Given the description of an element on the screen output the (x, y) to click on. 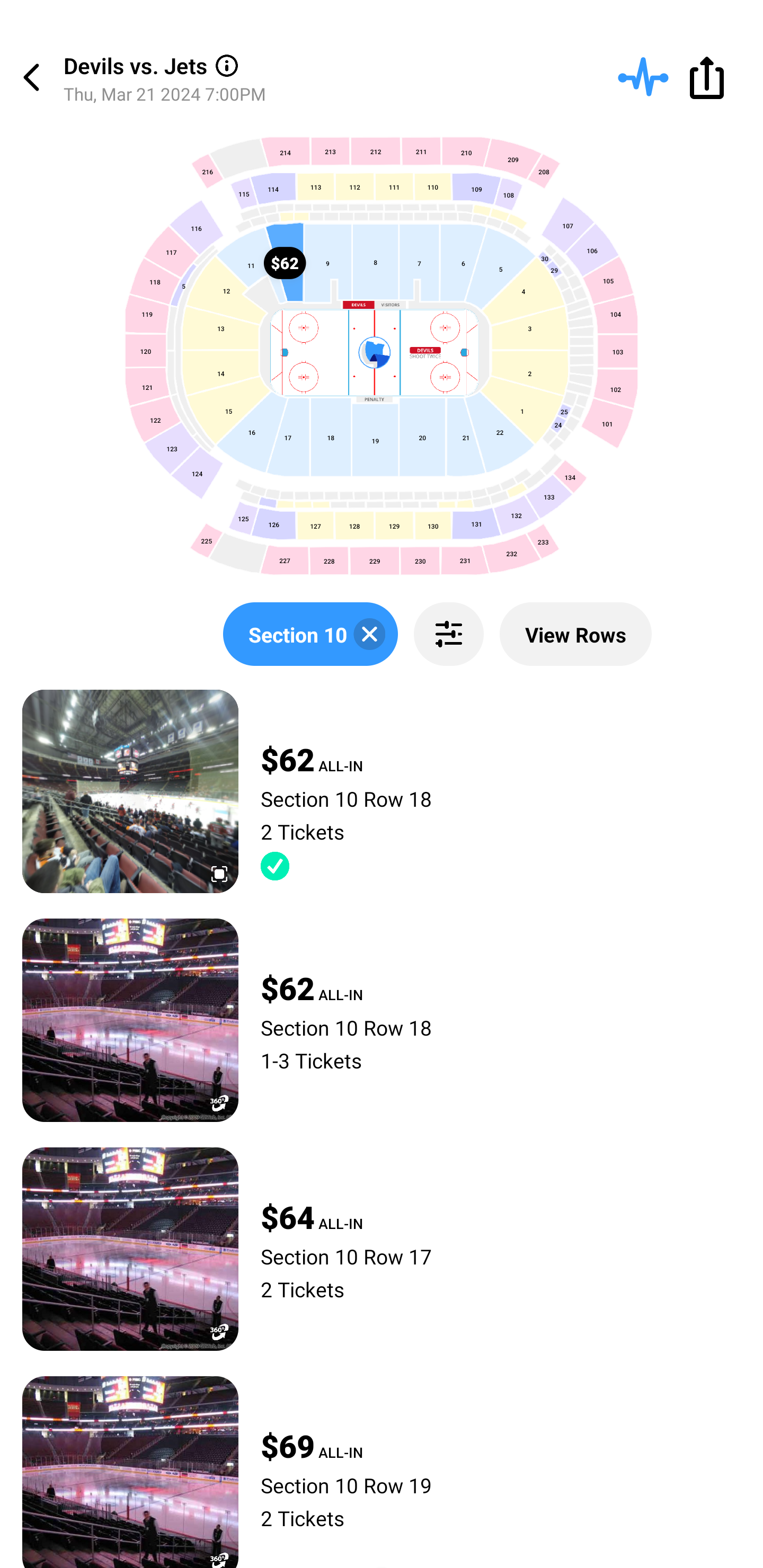
$62 (284, 262)
Section 10 (310, 634)
View Rows (575, 634)
